Given the description of an element on the screen output the (x, y) to click on. 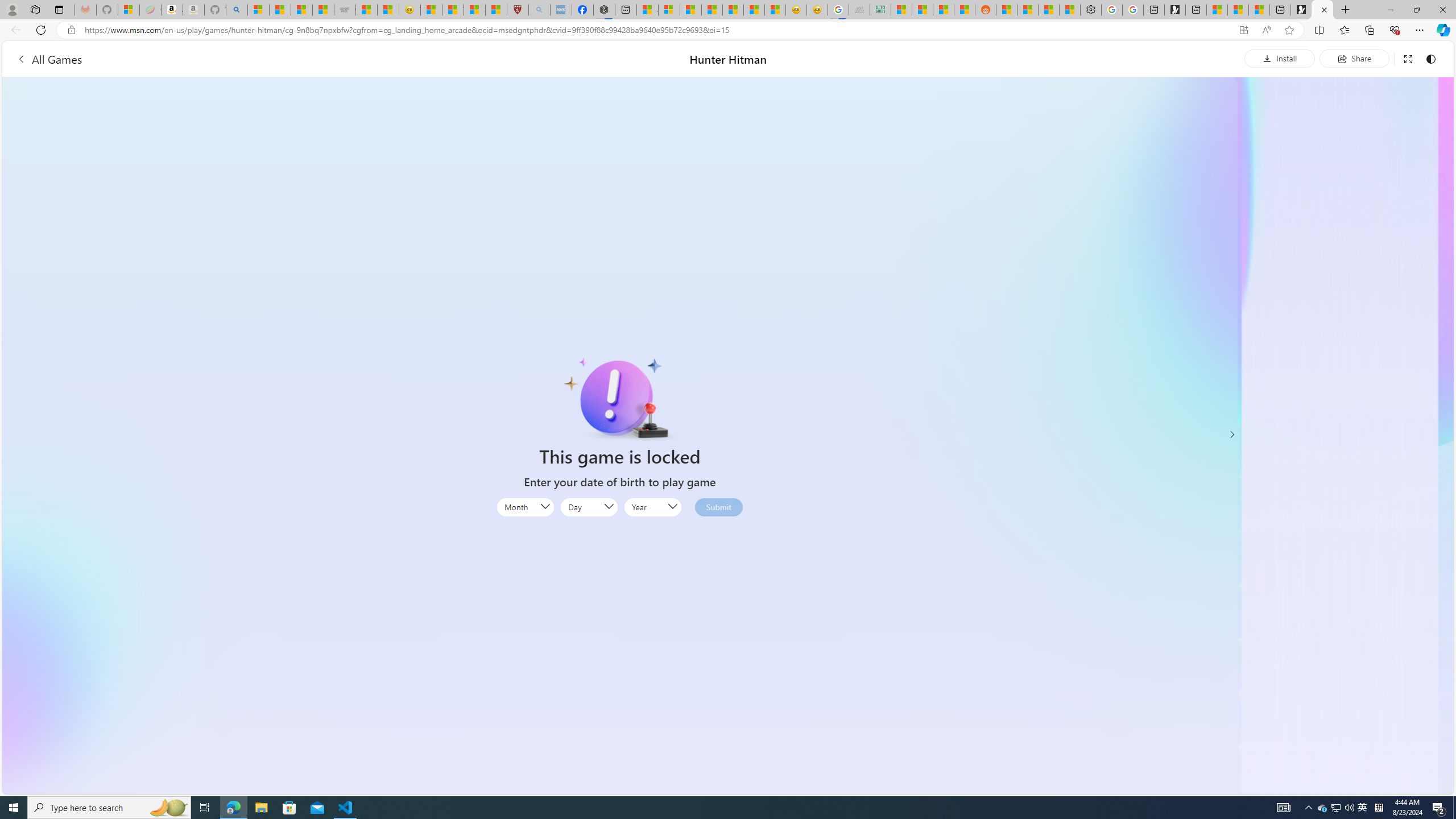
App bar (728, 29)
Nordace - Nordace Siena Is Not An Ordinary Backpack (604, 9)
All Games (253, 58)
Robert H. Shmerling, MD - Harvard Health (517, 9)
Submit (718, 506)
MSN (964, 9)
Microsoft Start (1238, 9)
Microsoft account | Privacy (668, 9)
DITOGAMES AG Imprint (879, 9)
These 3 Stocks Pay You More Than 5% to Own Them (1258, 9)
